Given the description of an element on the screen output the (x, y) to click on. 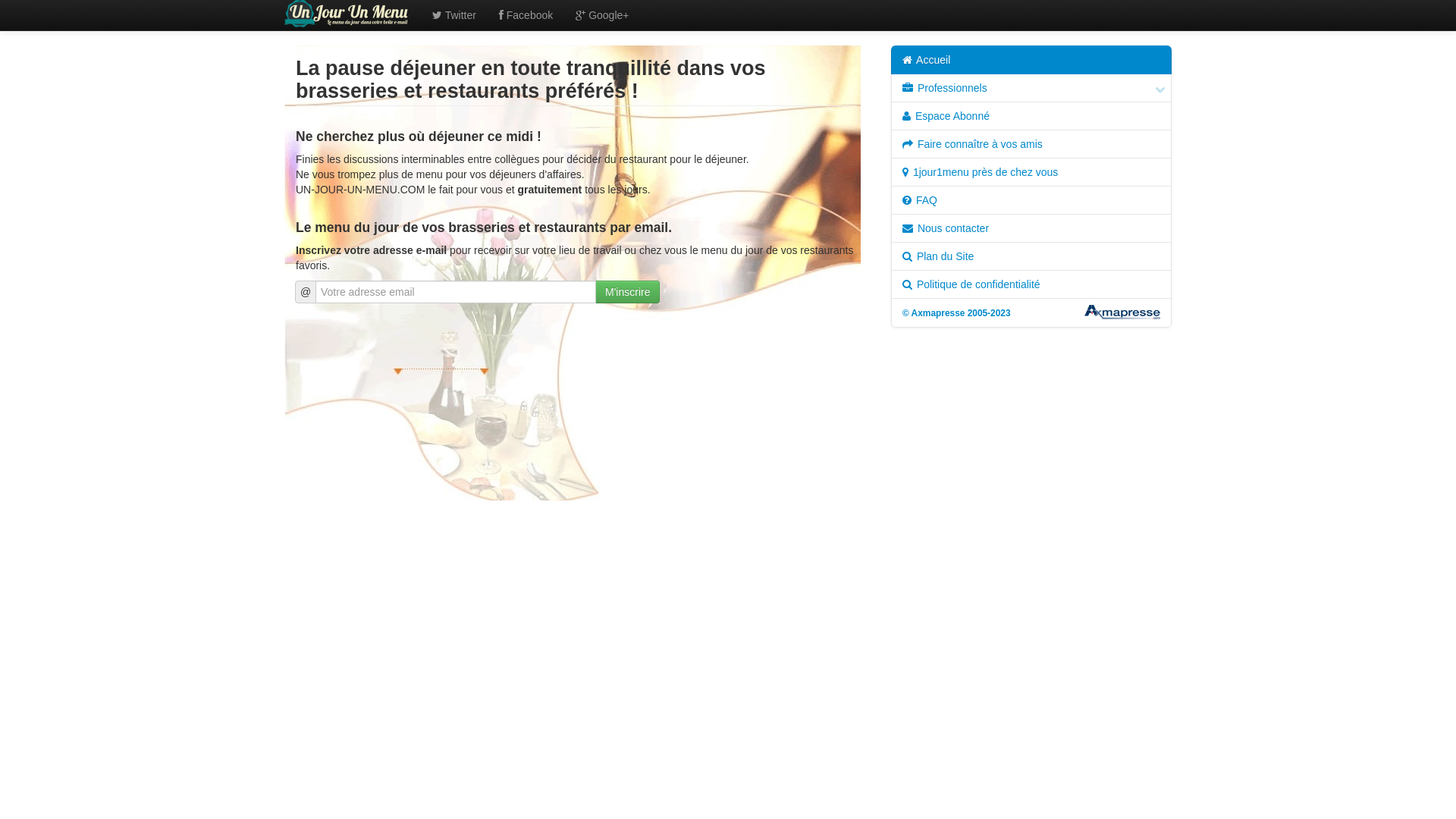
FAQ Element type: text (1031, 199)
Plan du Site Element type: text (1031, 255)
Google+ Element type: text (602, 15)
Accueil Element type: text (1031, 59)
Twitter Element type: text (453, 15)
M'inscrire Element type: text (627, 291)
Facebook Element type: text (525, 15)
Professionnels Element type: text (1031, 87)
Nous contacter Element type: text (1031, 227)
